Given the description of an element on the screen output the (x, y) to click on. 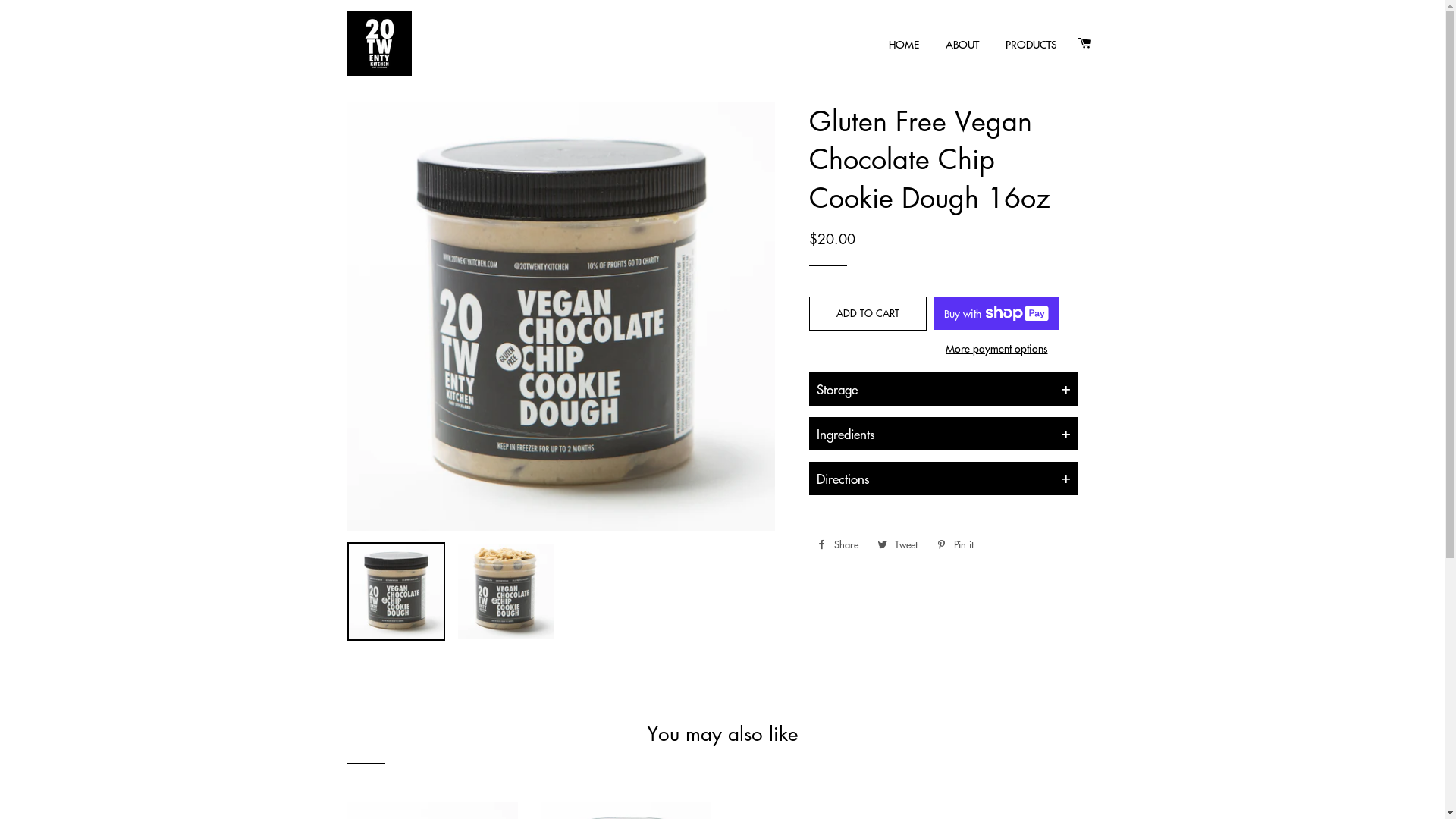
ADD TO CART Element type: text (867, 312)
More payment options Element type: text (996, 348)
Tweet
Tweet on Twitter Element type: text (897, 544)
Pin it
Pin on Pinterest Element type: text (954, 544)
ABOUT Element type: text (962, 44)
HOME Element type: text (903, 44)
PRODUCTS Element type: text (1031, 44)
Share
Share on Facebook Element type: text (837, 544)
CART Element type: text (1084, 43)
